Given the description of an element on the screen output the (x, y) to click on. 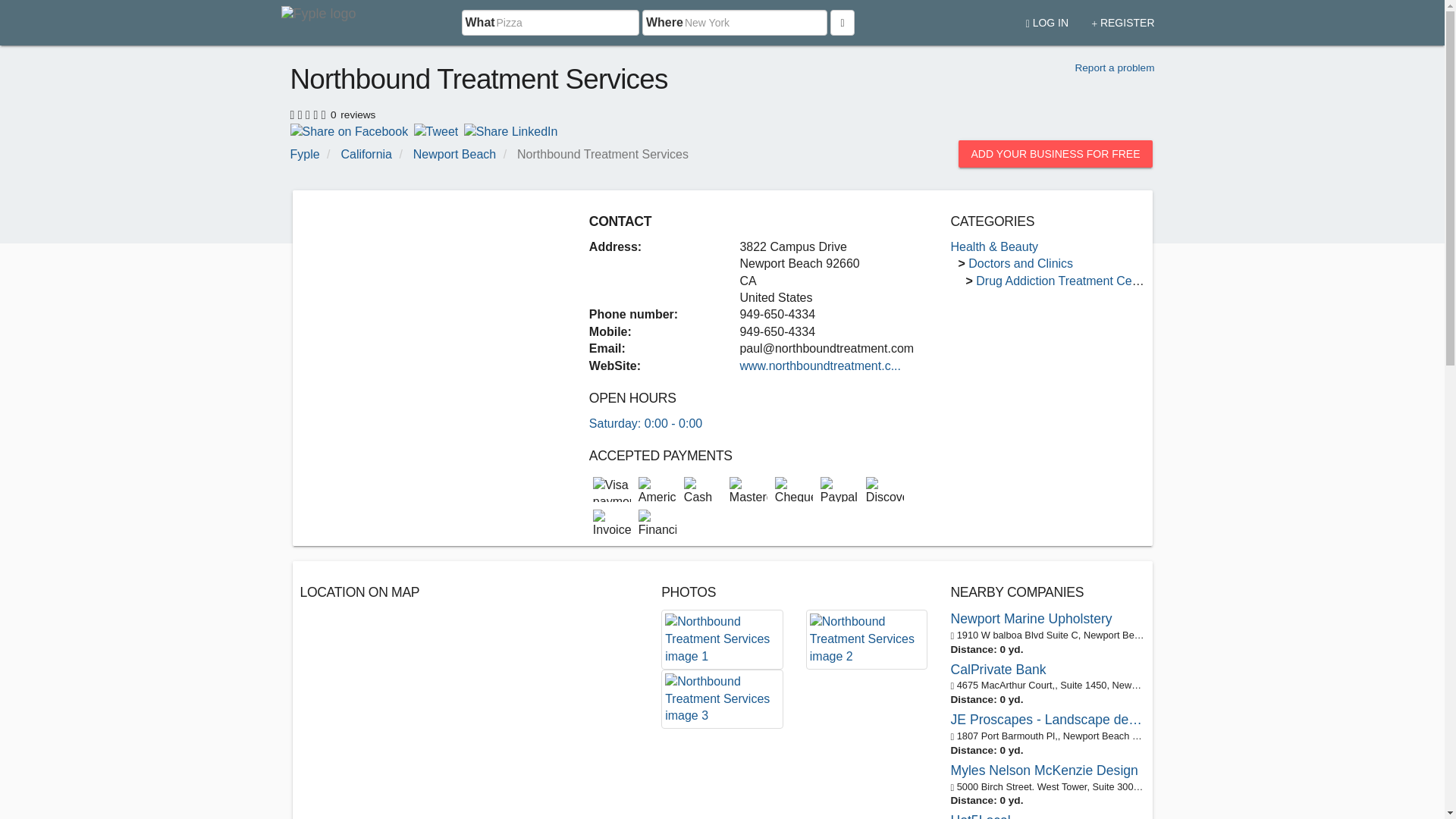
Share on LinkedIn (510, 130)
Newport Marine Upholstery (1047, 618)
REGISTER (1123, 17)
Home page (320, 22)
Location on map (469, 714)
Tweet (435, 130)
Report a problem (1114, 67)
LOG IN (1047, 17)
Myles Nelson McKenzie Design (1047, 770)
Share on Facebook (348, 130)
Hot5Local (1047, 815)
Newport Beach (454, 154)
0.00 (309, 112)
Fyple (303, 154)
Doctors and Clinics (1020, 263)
